Given the description of an element on the screen output the (x, y) to click on. 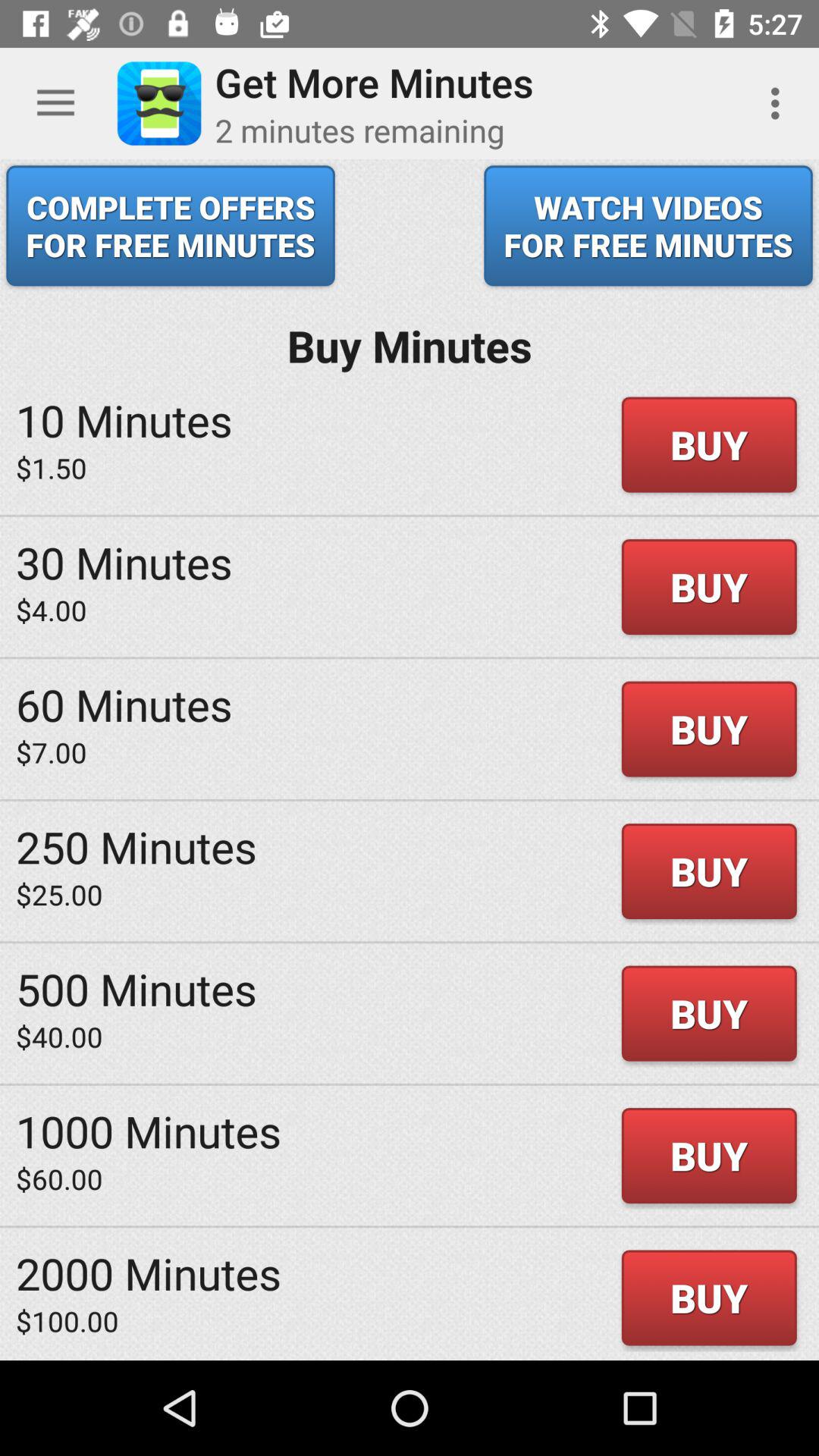
choose the item to the left of the buy item (136, 988)
